Given the description of an element on the screen output the (x, y) to click on. 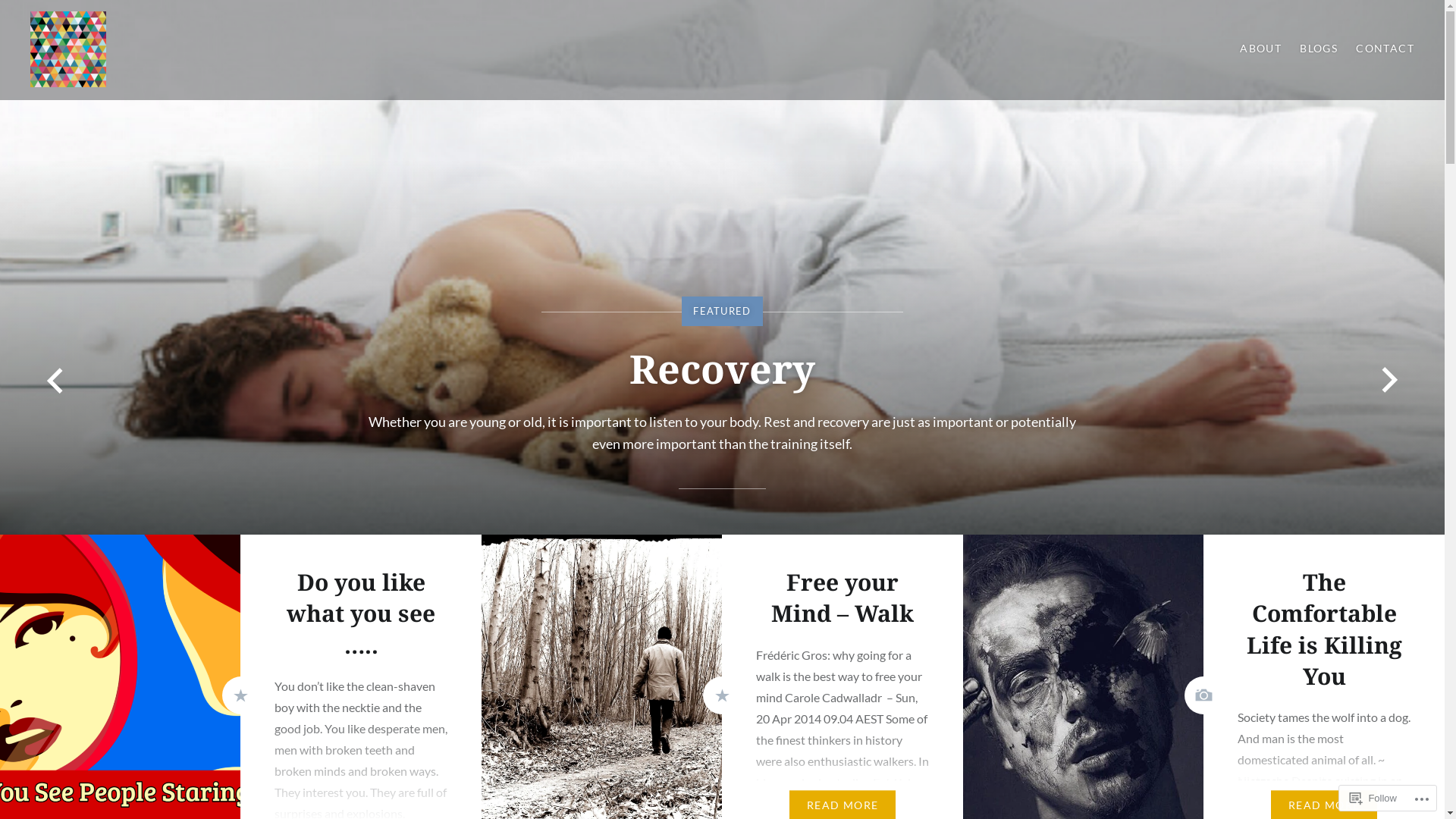
Follow Element type: text (1372, 797)
Recovery Element type: hover (722, 267)
CONTACT Element type: text (1384, 48)
http://www.totalimmersion.net Element type: text (636, 398)
Search Element type: text (141, 19)
BLOGS Element type: text (1318, 48)
The Comfortable Life is Killing You Element type: text (1324, 628)
Iconoclasses | holism | Element type: text (164, 101)
ABOUT Element type: text (1260, 48)
Swimming Element type: text (721, 323)
